Given the description of an element on the screen output the (x, y) to click on. 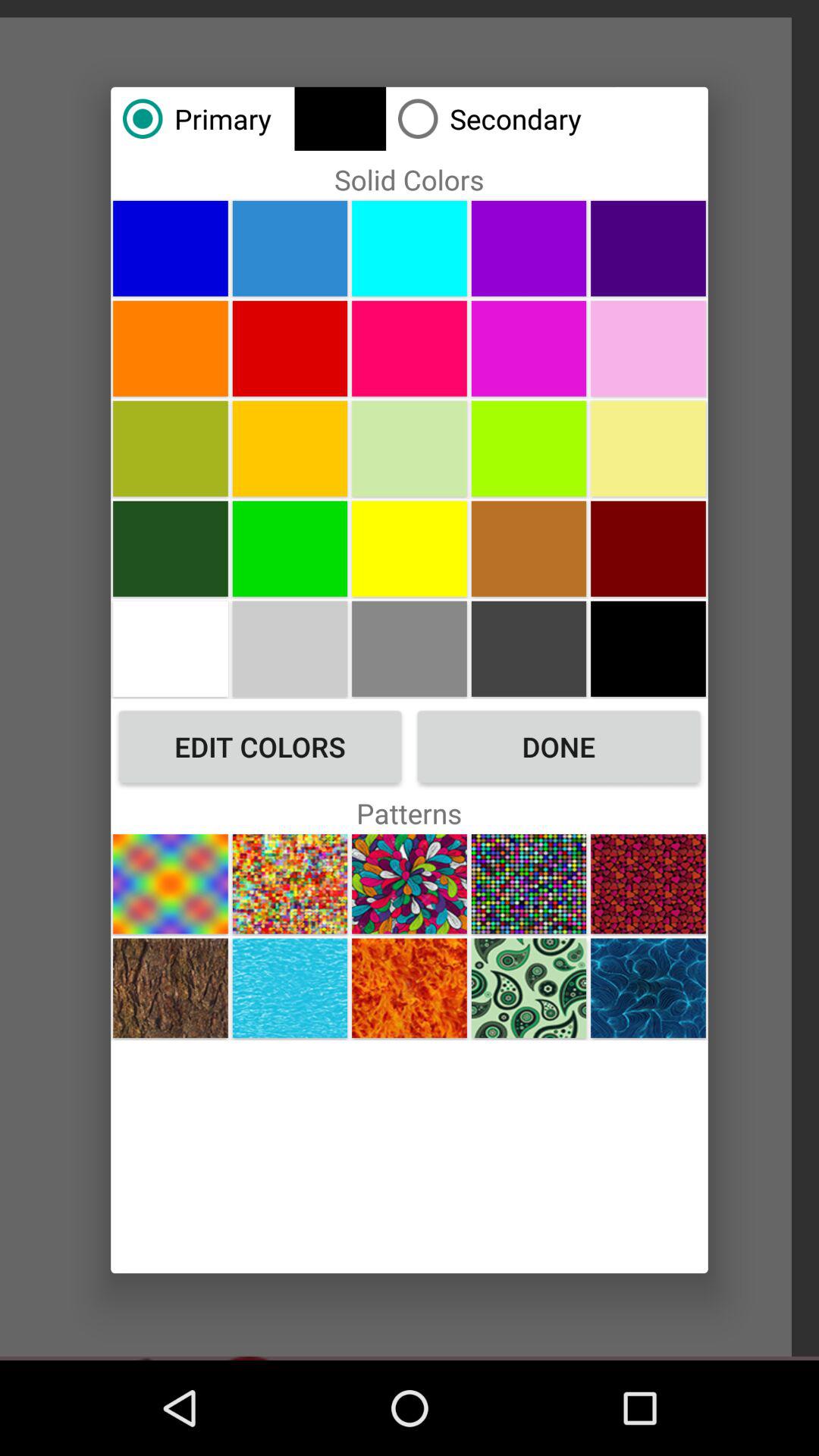
select this color (170, 448)
